Given the description of an element on the screen output the (x, y) to click on. 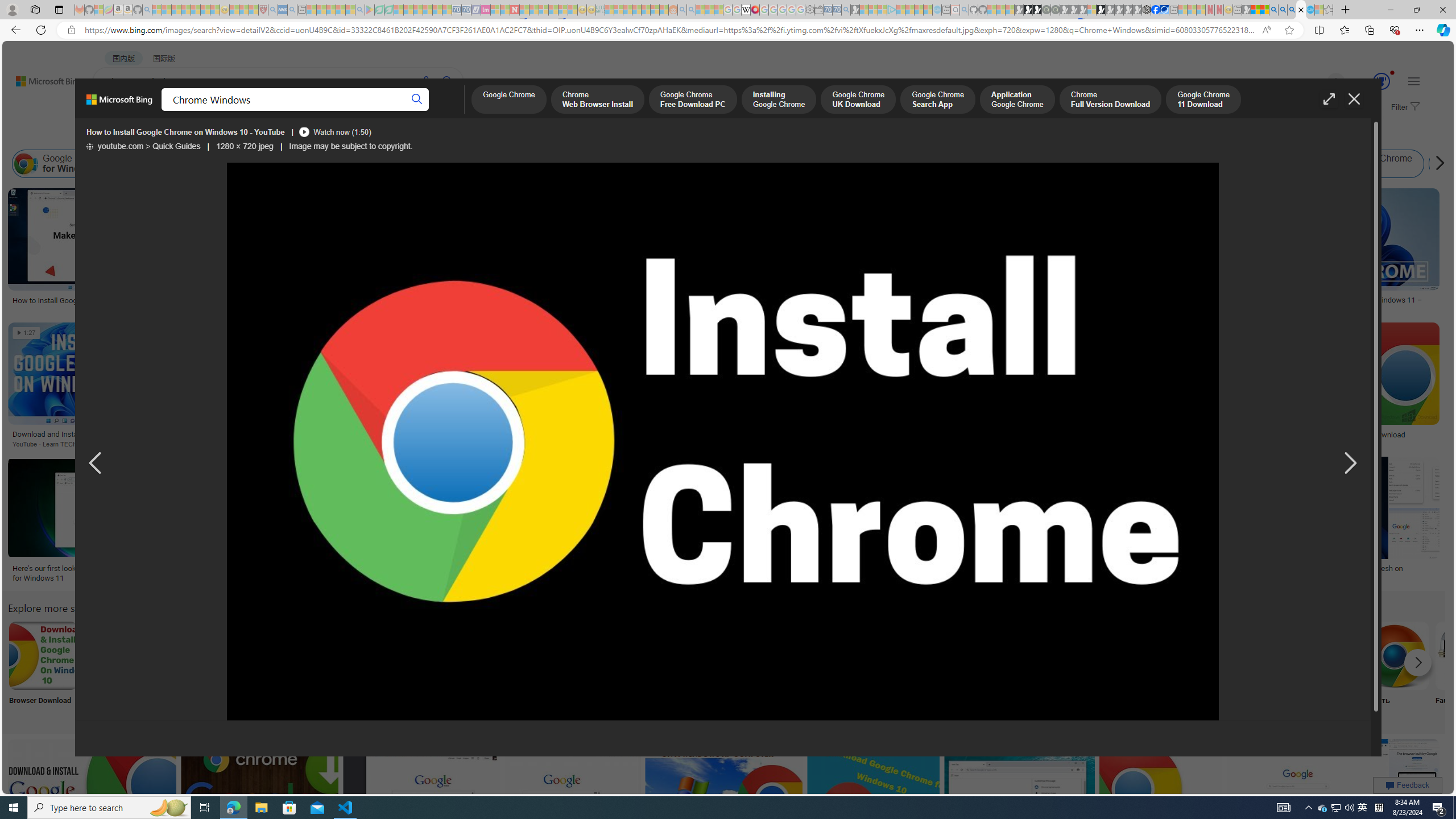
Chrome Windows 1.0 (364, 163)
How To Download And Install Google Chrome On WindowsSave (989, 387)
WEB (114, 111)
Google Chrome 11 Download (1202, 100)
Color PNG (644, 669)
Chrome Computer (1319, 654)
